Given the description of an element on the screen output the (x, y) to click on. 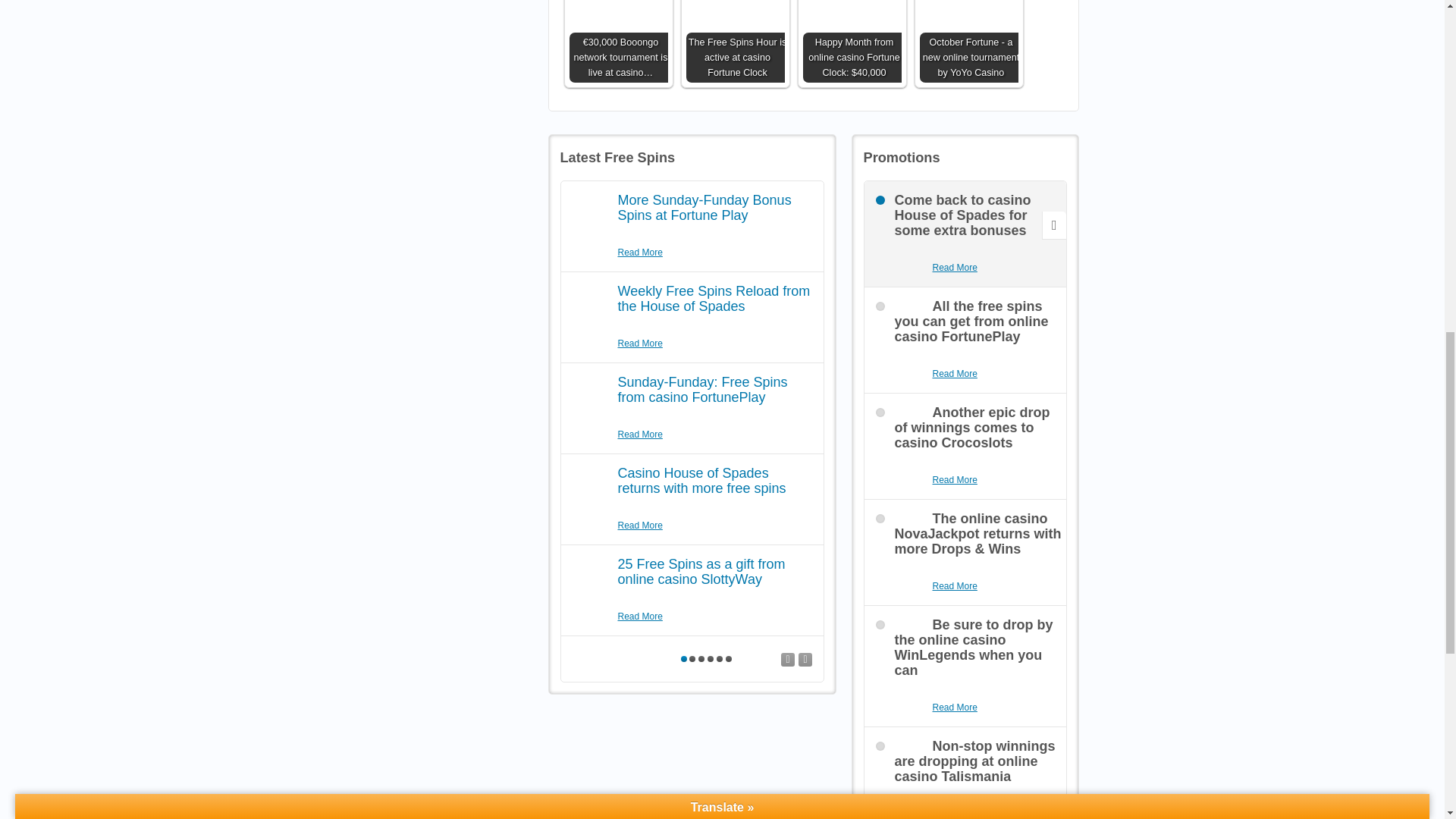
Read More (639, 252)
Read More (639, 616)
Read More (954, 812)
Read More (954, 268)
Sunday-Funday: Free Spins from casino FortunePlay (702, 389)
Casino House of Spades returns with more free spins (701, 481)
Read More (954, 586)
25 Free Spins as a gift from online casino SlottyWay (700, 571)
The Free Spins Hour is active at casino Fortune Clock (734, 41)
October Fortune - a new online tournament by YoYo Casino (967, 41)
The Free Spins Hour is active at casino Fortune Clock (734, 41)
More Sunday-Funday Bonus Spins at Fortune Play (703, 207)
Read More (639, 525)
Read More (639, 343)
Read More (639, 434)
